Given the description of an element on the screen output the (x, y) to click on. 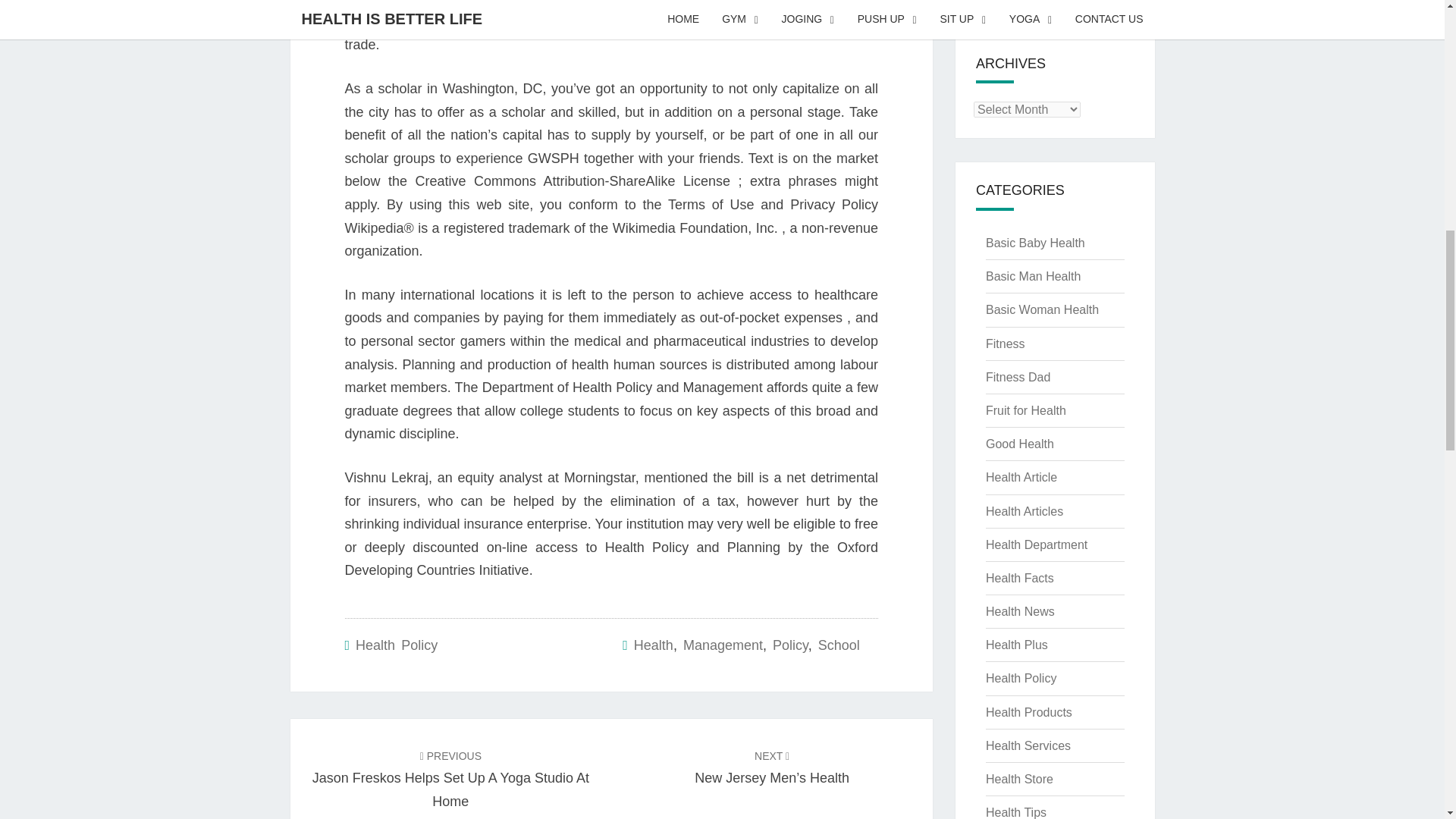
Health (652, 645)
Health Policy (396, 645)
